Given the description of an element on the screen output the (x, y) to click on. 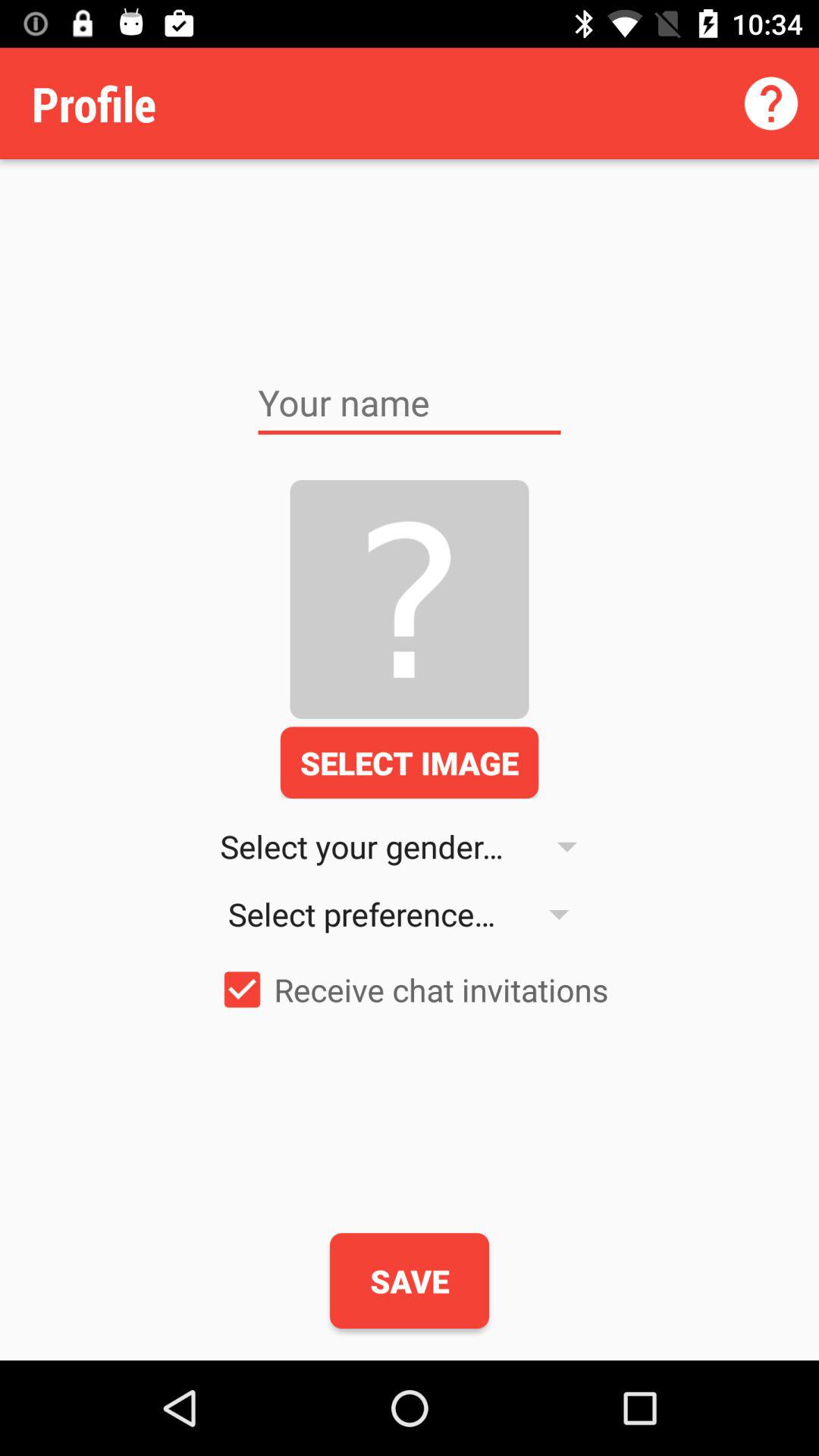
press the receive chat invitations (409, 989)
